Given the description of an element on the screen output the (x, y) to click on. 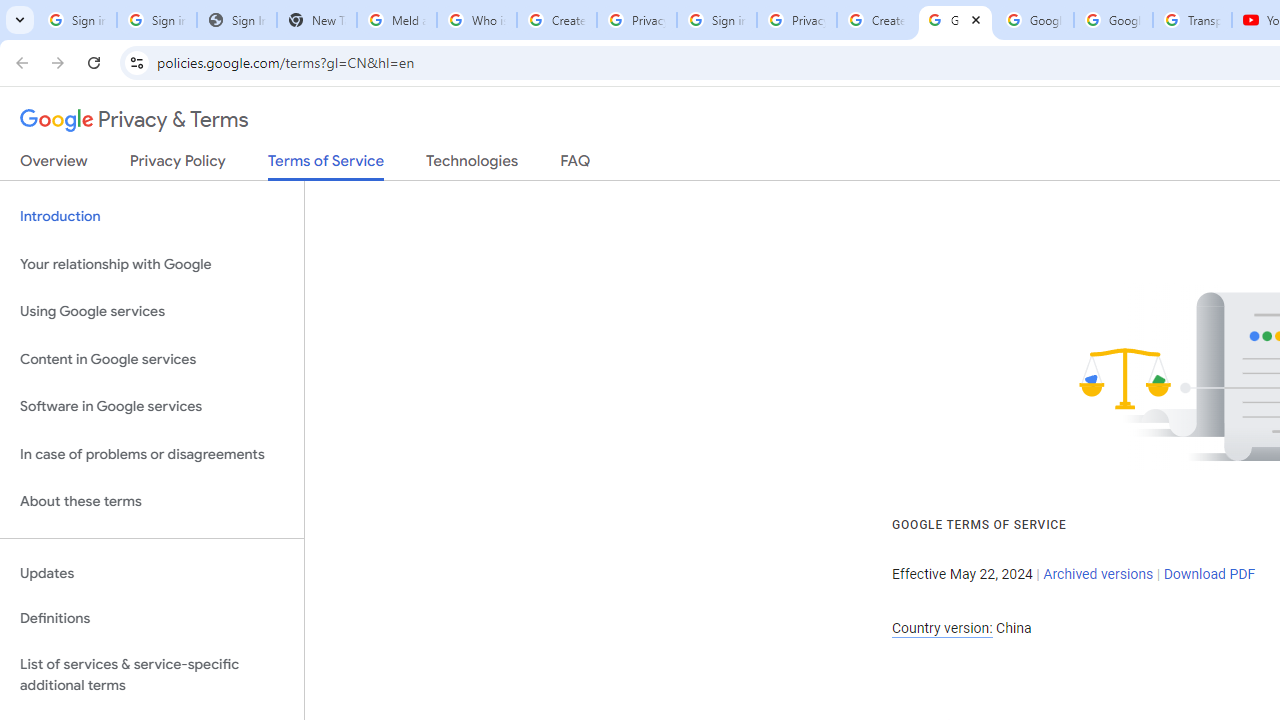
Archived versions (1098, 574)
Content in Google services (152, 358)
Introduction (152, 216)
Sign in - Google Accounts (156, 20)
Updates (152, 573)
Download PDF (1209, 574)
Technologies (472, 165)
Software in Google services (152, 407)
Who is my administrator? - Google Account Help (476, 20)
Privacy & Terms (134, 120)
